Given the description of an element on the screen output the (x, y) to click on. 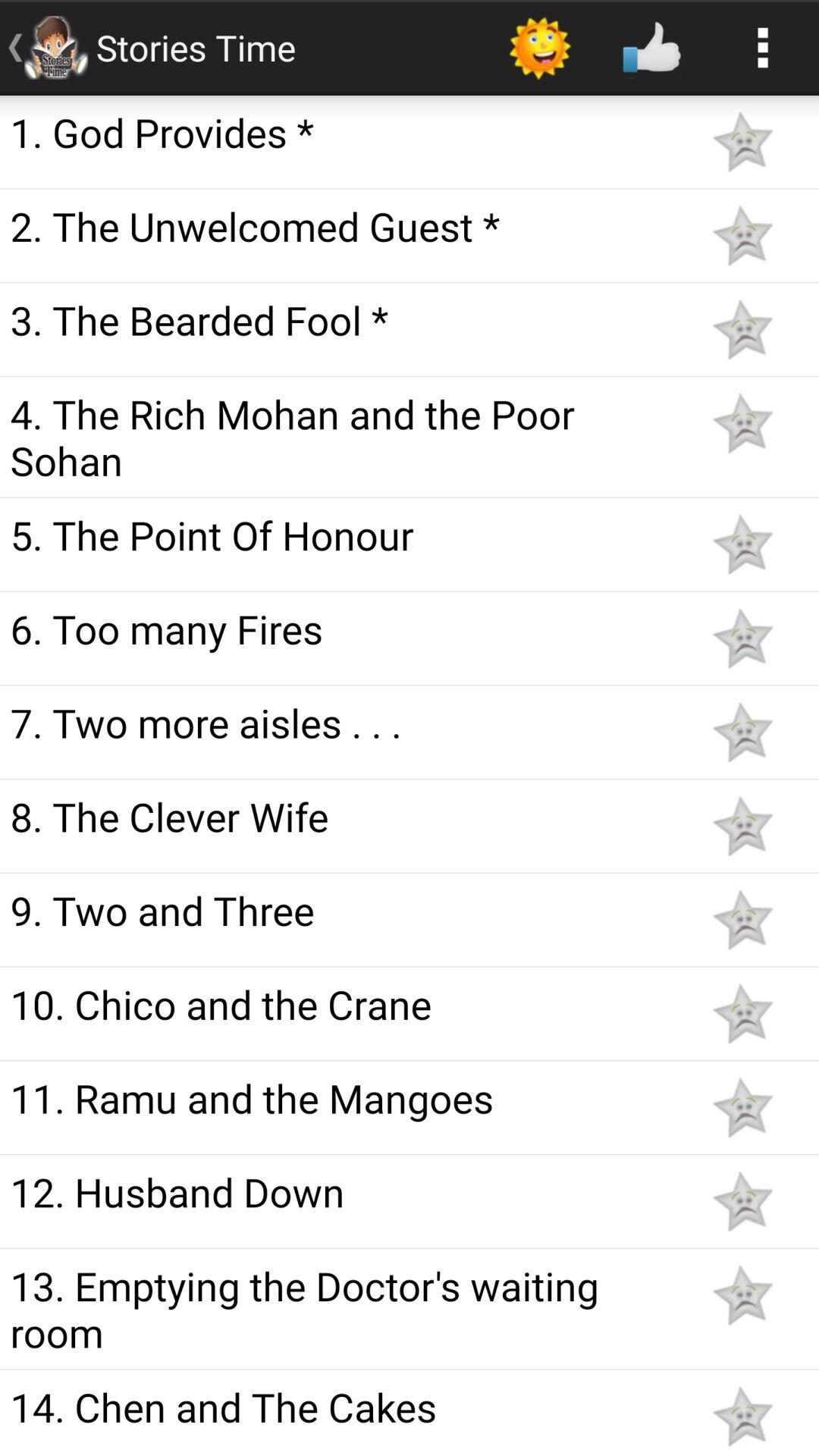
jump to the 13 emptying the item (343, 1308)
